Given the description of an element on the screen output the (x, y) to click on. 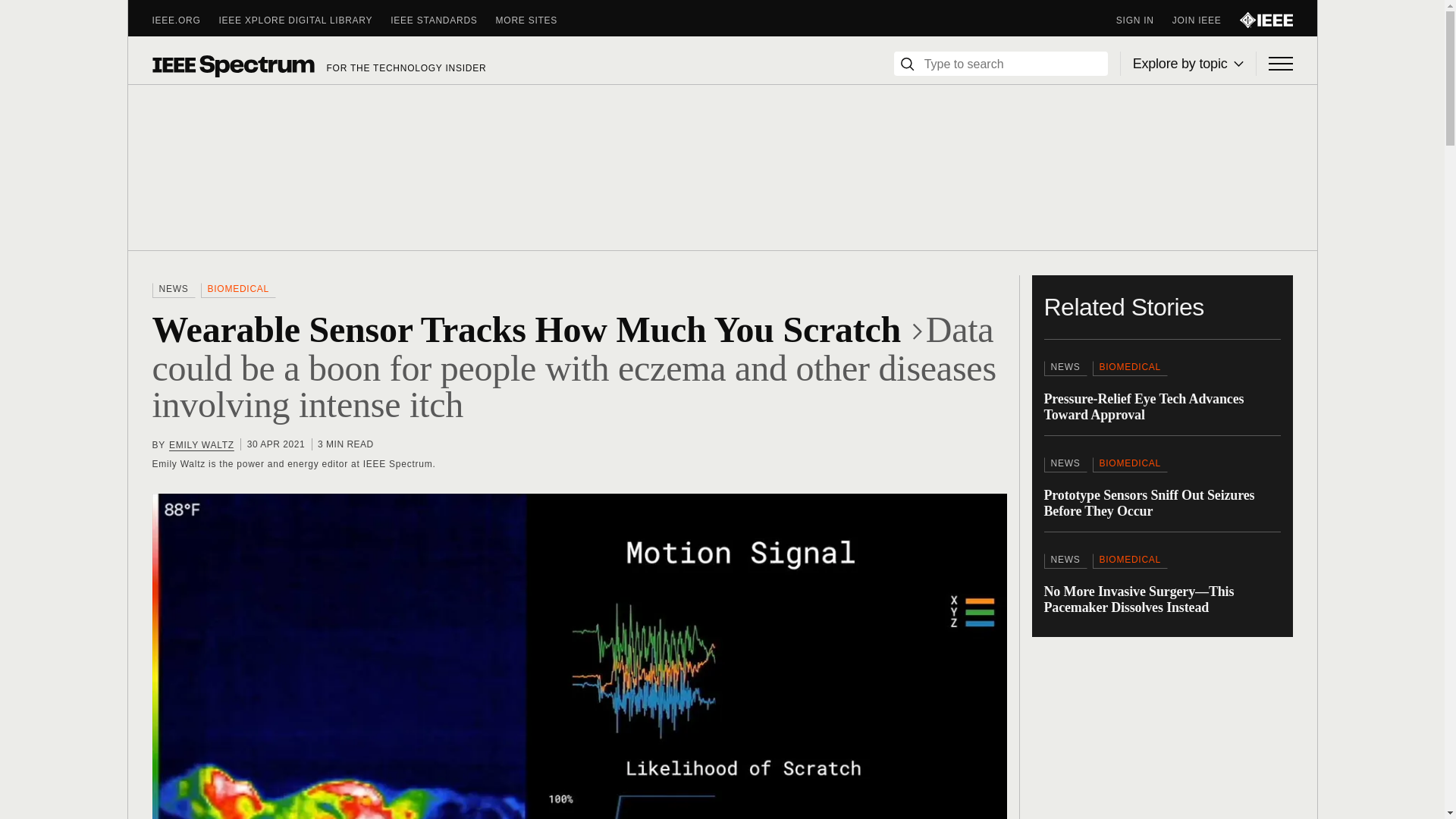
IEEE.ORG (184, 20)
IEEE STANDARDS (442, 20)
Spectrum Logo (232, 64)
SIGN IN (1144, 20)
MORE SITES (536, 20)
JOIN IEEE (1206, 20)
IEEE XPLORE DIGITAL LIBRARY (305, 20)
Search (907, 63)
